Given the description of an element on the screen output the (x, y) to click on. 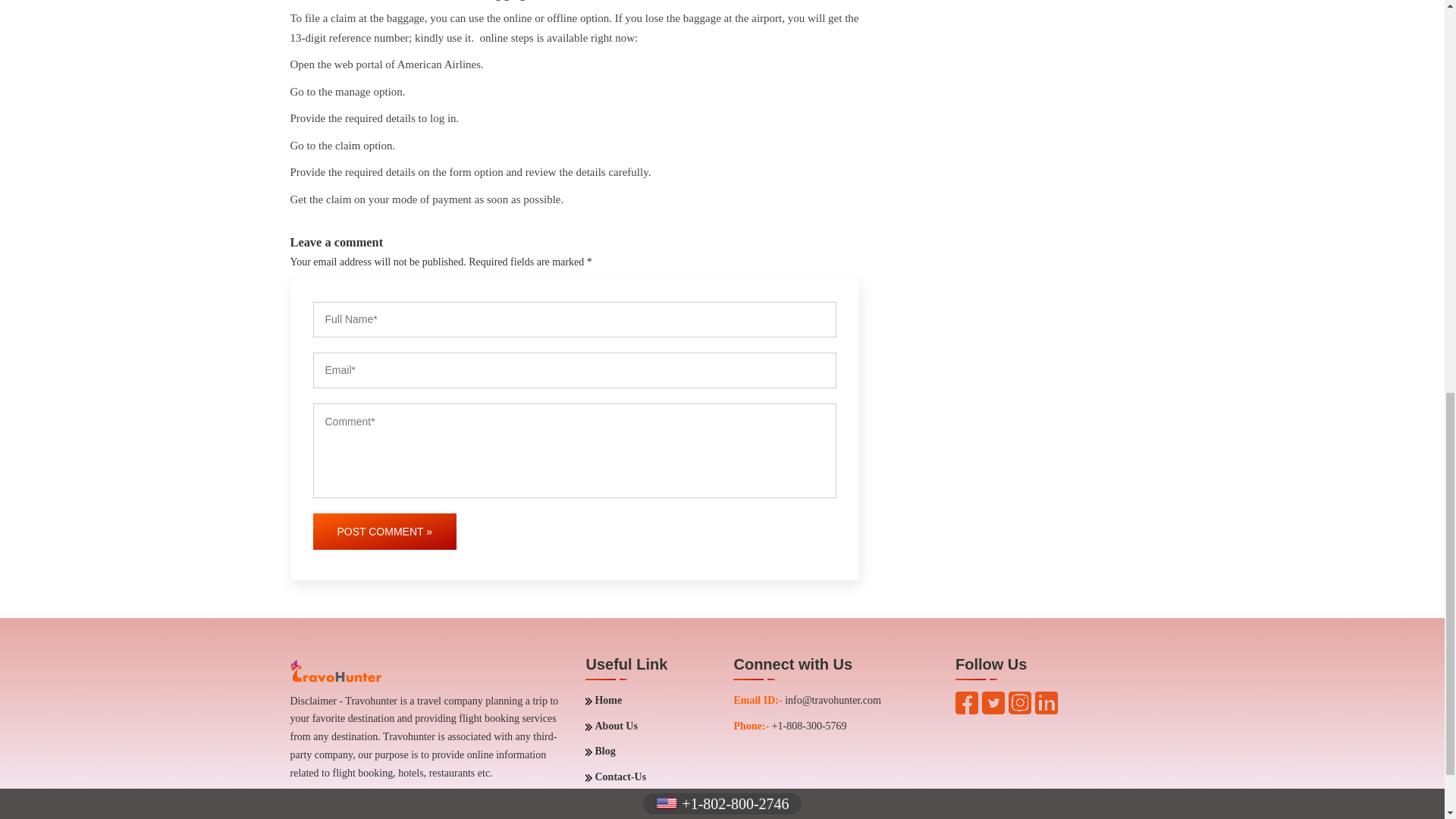
Home (603, 700)
Contact-Us (615, 777)
Blog (599, 751)
About Us (611, 726)
